Given the description of an element on the screen output the (x, y) to click on. 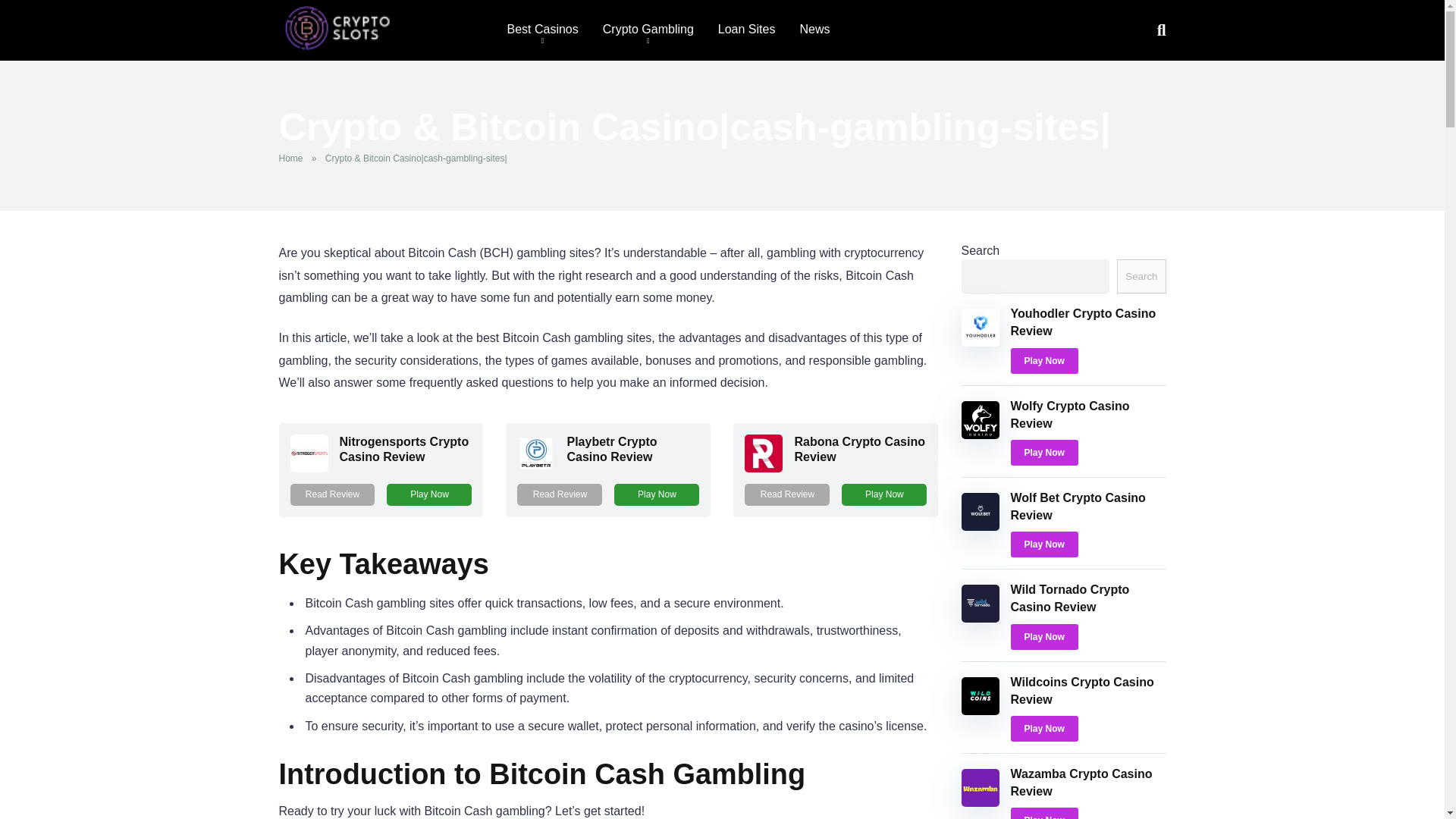
Read Review (559, 495)
Crypto Gambling (648, 30)
Read Review (559, 495)
Youhodler Crypto Casino Review (1083, 322)
Read Review (786, 495)
Nitrogensports Crypto Casino Review (308, 468)
Home (293, 158)
Play Now (656, 495)
Cryptoslots (336, 28)
Read Review (331, 495)
Wolf Bet Crypto Casino Review (1077, 506)
Play Now (429, 495)
Loan Sites (746, 30)
Play Now (656, 495)
Read Review (331, 495)
